Given the description of an element on the screen output the (x, y) to click on. 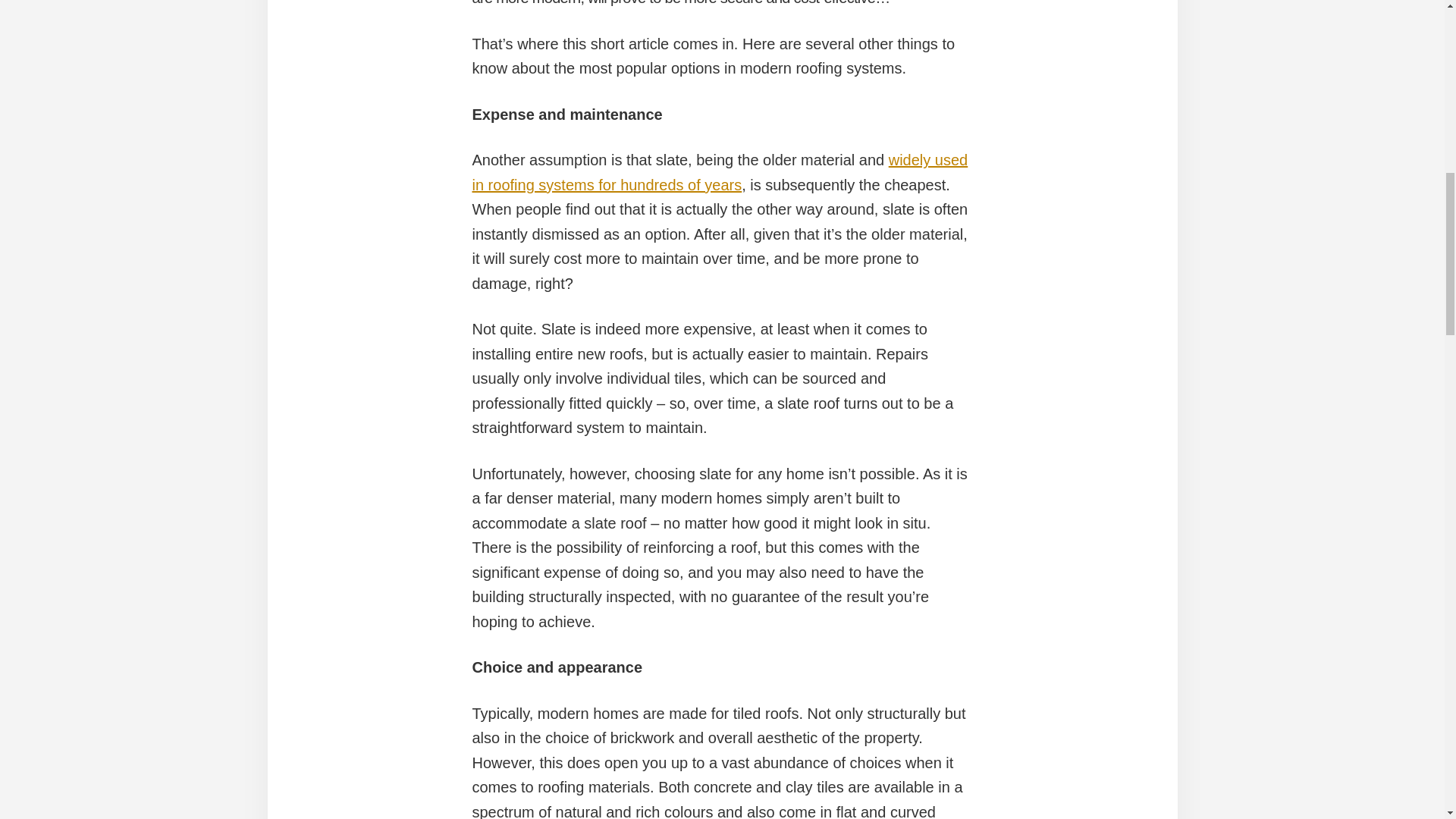
widely used in roofing systems for hundreds of years (719, 172)
